Given the description of an element on the screen output the (x, y) to click on. 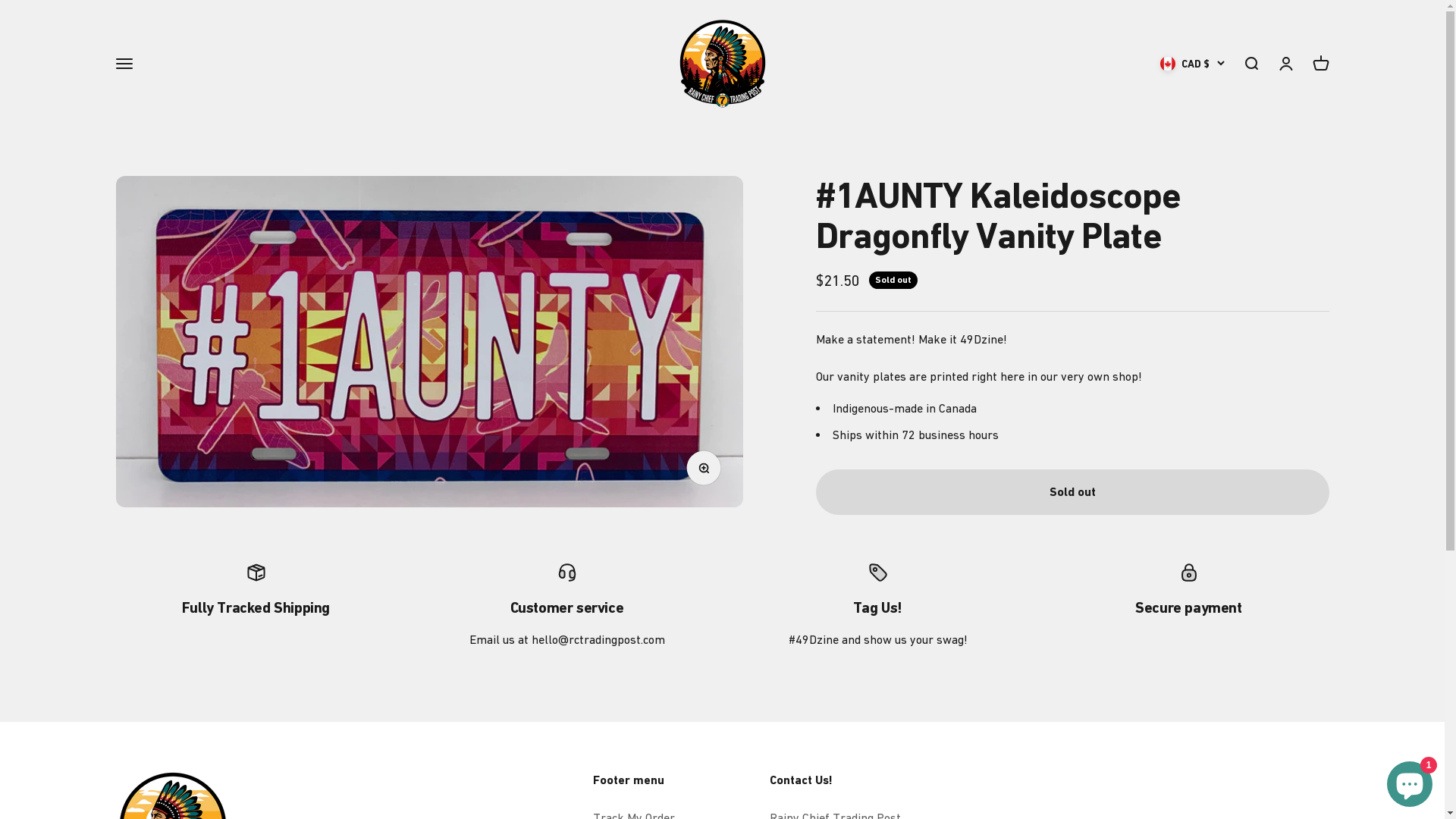
Zoom Element type: text (707, 472)
Open cart
0 Element type: text (1319, 63)
Open search Element type: text (1250, 63)
49DzineStore Element type: text (721, 63)
Sold out Element type: text (1072, 491)
Open account page Element type: text (1285, 63)
Shopify online store chat Element type: hover (1409, 780)
Open navigation menu Element type: text (123, 63)
CAD $ Element type: text (1192, 63)
